Given the description of an element on the screen output the (x, y) to click on. 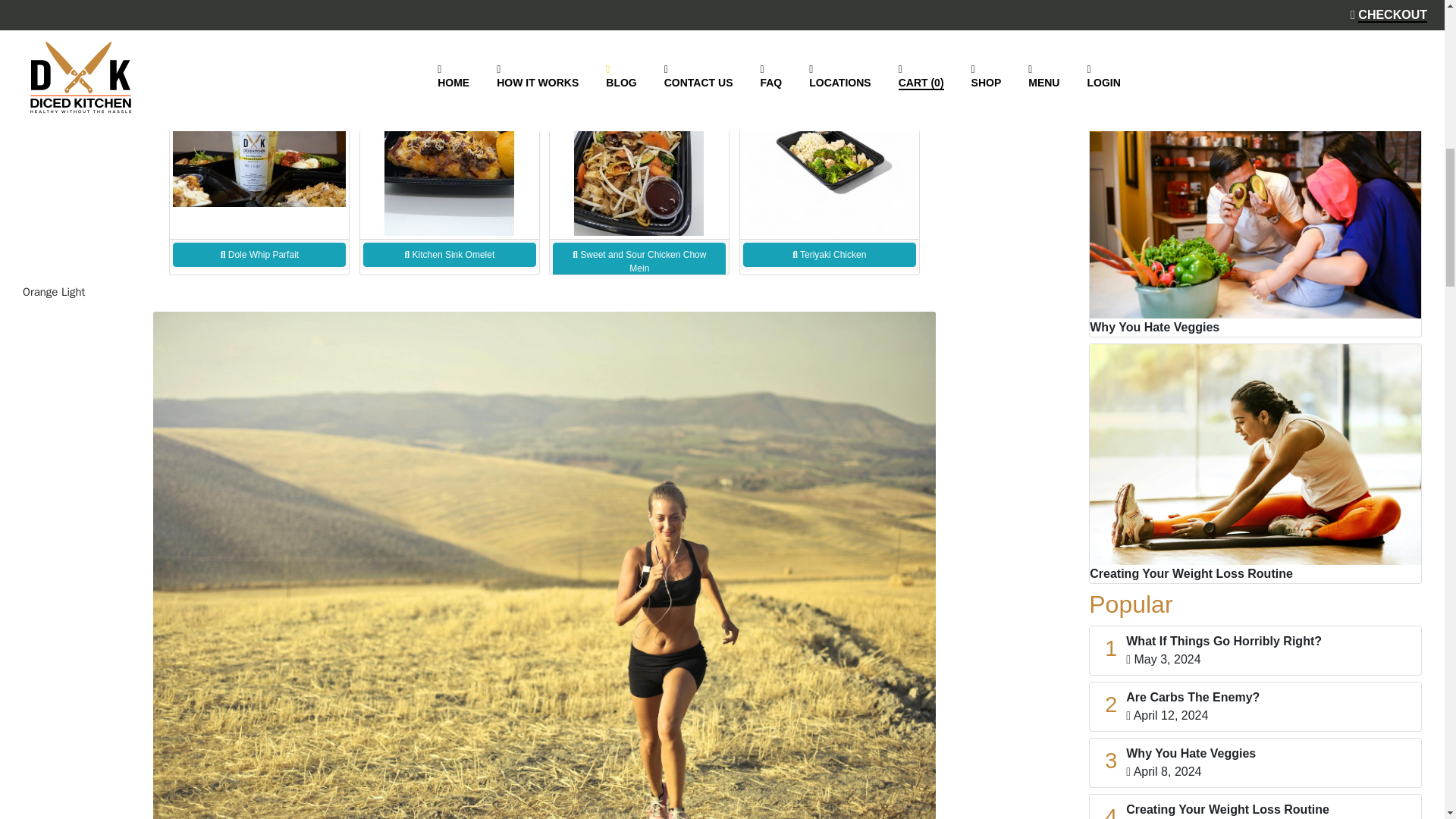
Sweet and Sour Chicken Chow Mein (640, 273)
Dole Whip Parfait (260, 273)
Kitchen Sink Omelet (451, 273)
Teriyaki Chicken (829, 273)
